Given the description of an element on the screen output the (x, y) to click on. 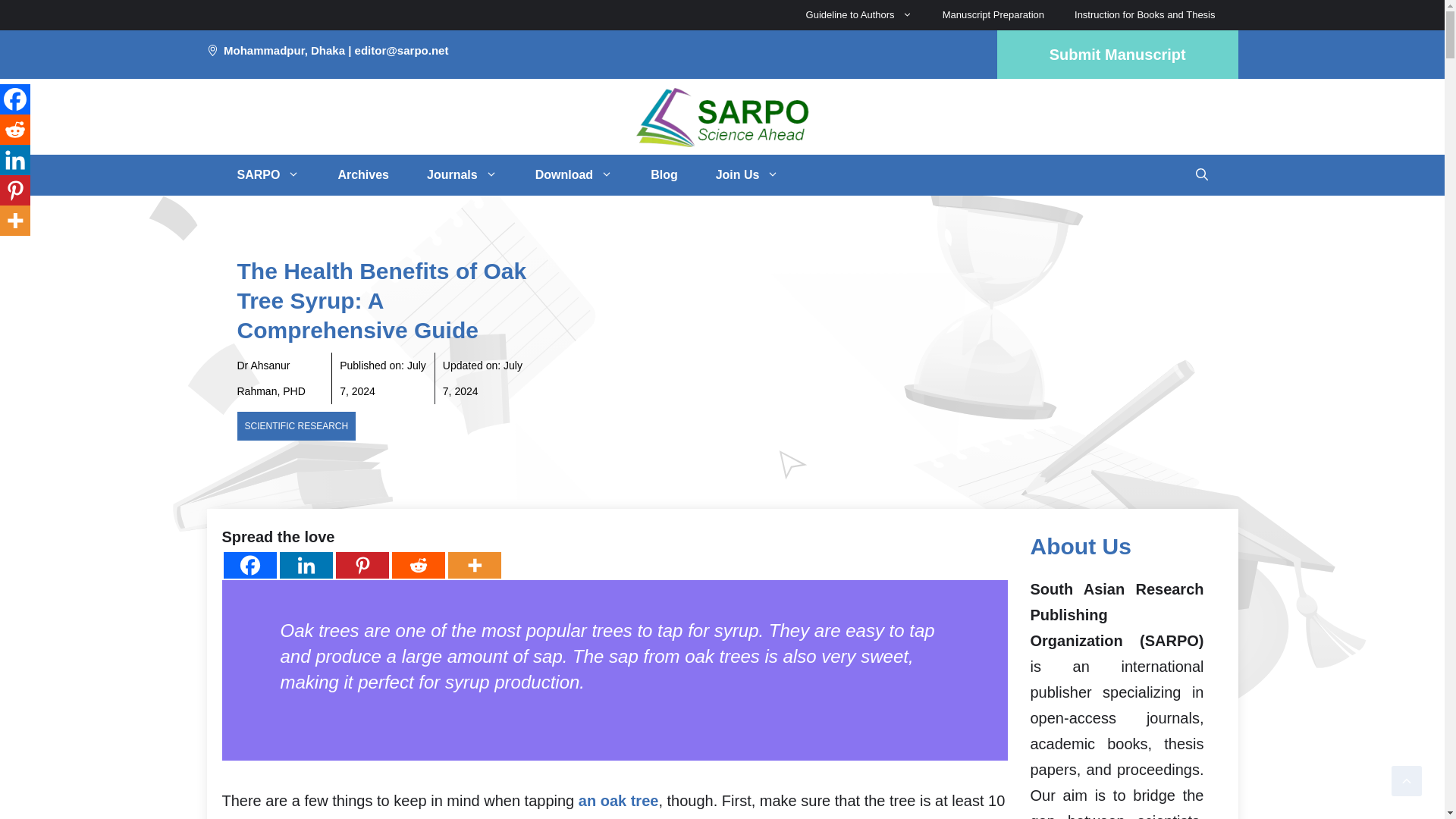
Submit Manuscript (1118, 54)
SARPO (268, 174)
Archives (362, 174)
More (473, 565)
Reddit (417, 565)
Guideline to Authors (858, 15)
Instruction for Books and Thesis (1144, 15)
Linkedin (305, 565)
Facebook (249, 565)
Manuscript Preparation (993, 15)
Facebook (15, 99)
Pinterest (361, 565)
Journals (461, 174)
